Given the description of an element on the screen output the (x, y) to click on. 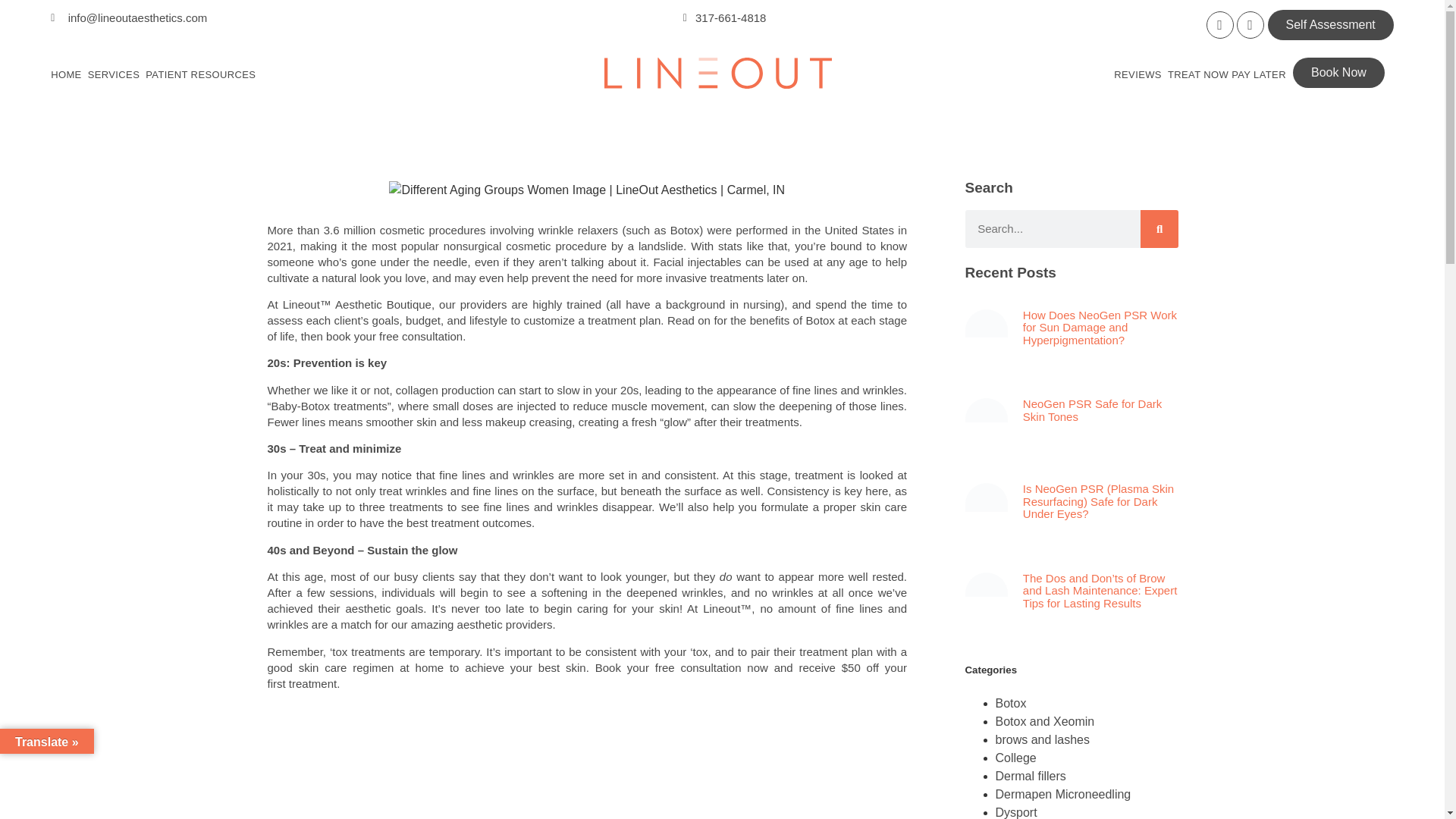
Self Assessment (1330, 24)
SERVICES (113, 74)
HOME (65, 74)
317-661-4818 (722, 17)
PATIENT RESOURCES (200, 74)
